Given the description of an element on the screen output the (x, y) to click on. 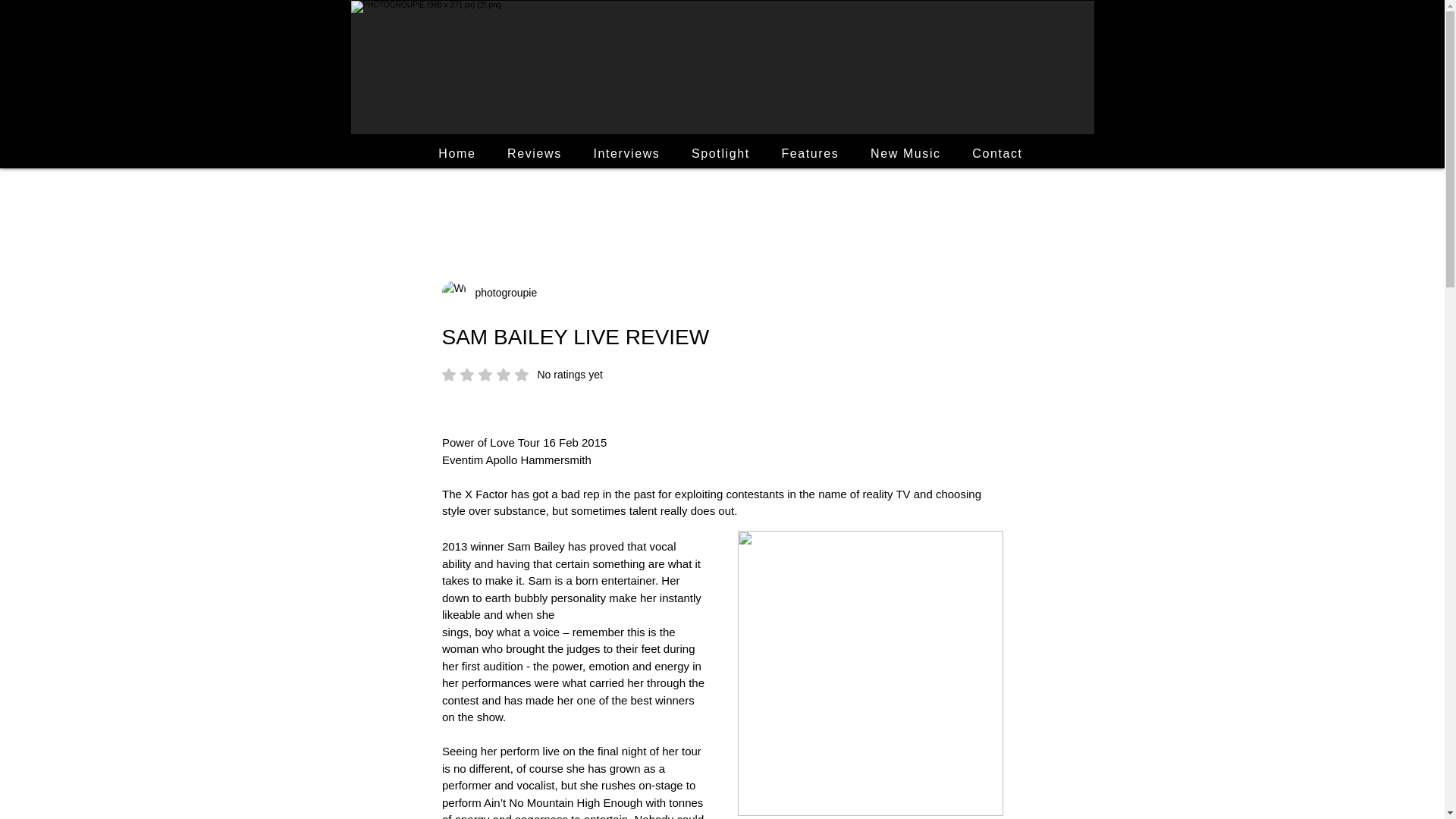
New Music (905, 153)
Contact (997, 153)
Features (521, 374)
photogroupie (809, 153)
Interviews (501, 293)
Spotlight (626, 153)
Home (719, 153)
